Given the description of an element on the screen output the (x, y) to click on. 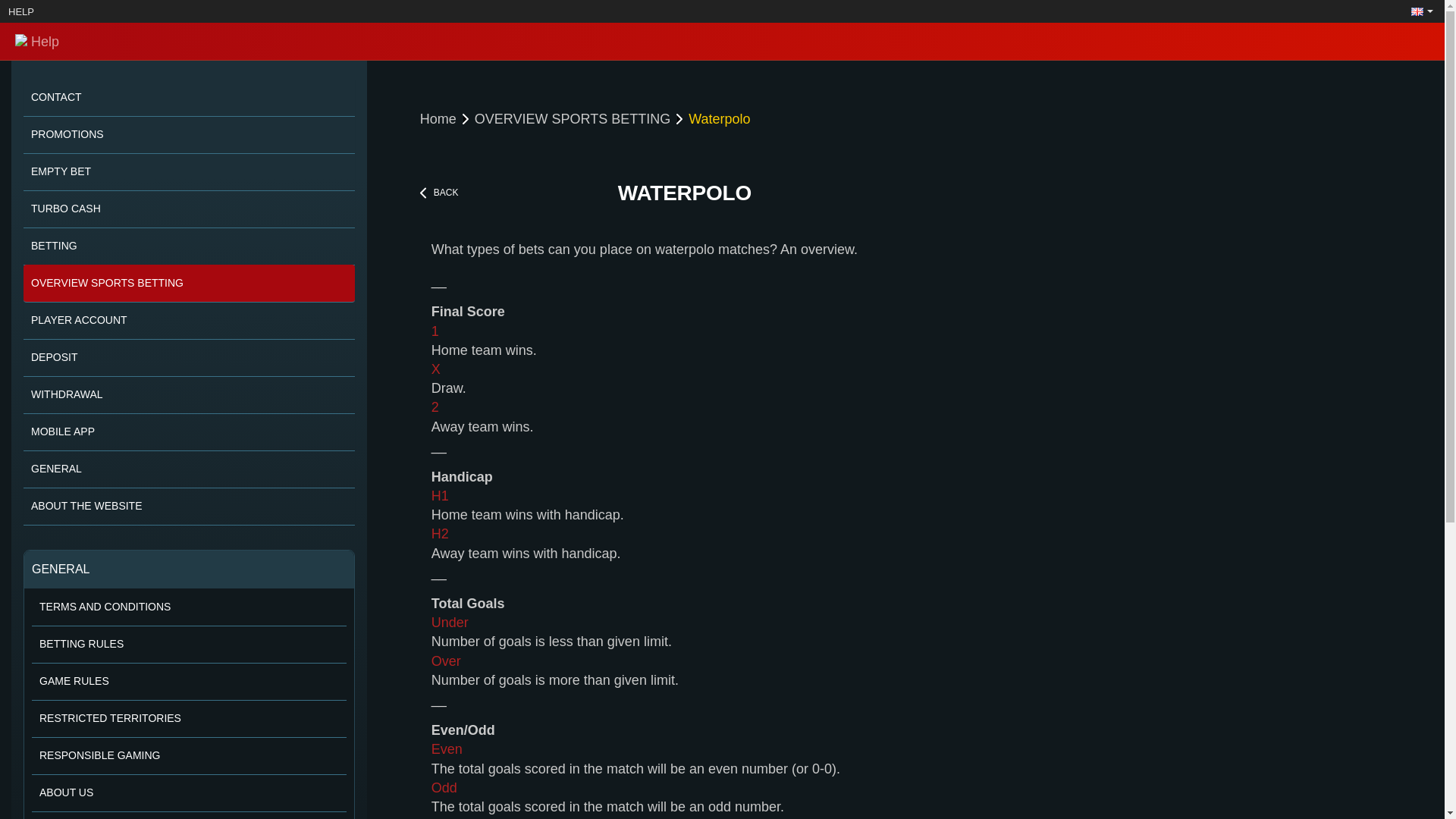
CONTACT (189, 97)
v3.meridianbet.be (244, 41)
TURBO CASH (189, 209)
HELP (21, 10)
PROMOTIONS (189, 134)
EMPTY BET (189, 171)
Help (244, 41)
